Given the description of an element on the screen output the (x, y) to click on. 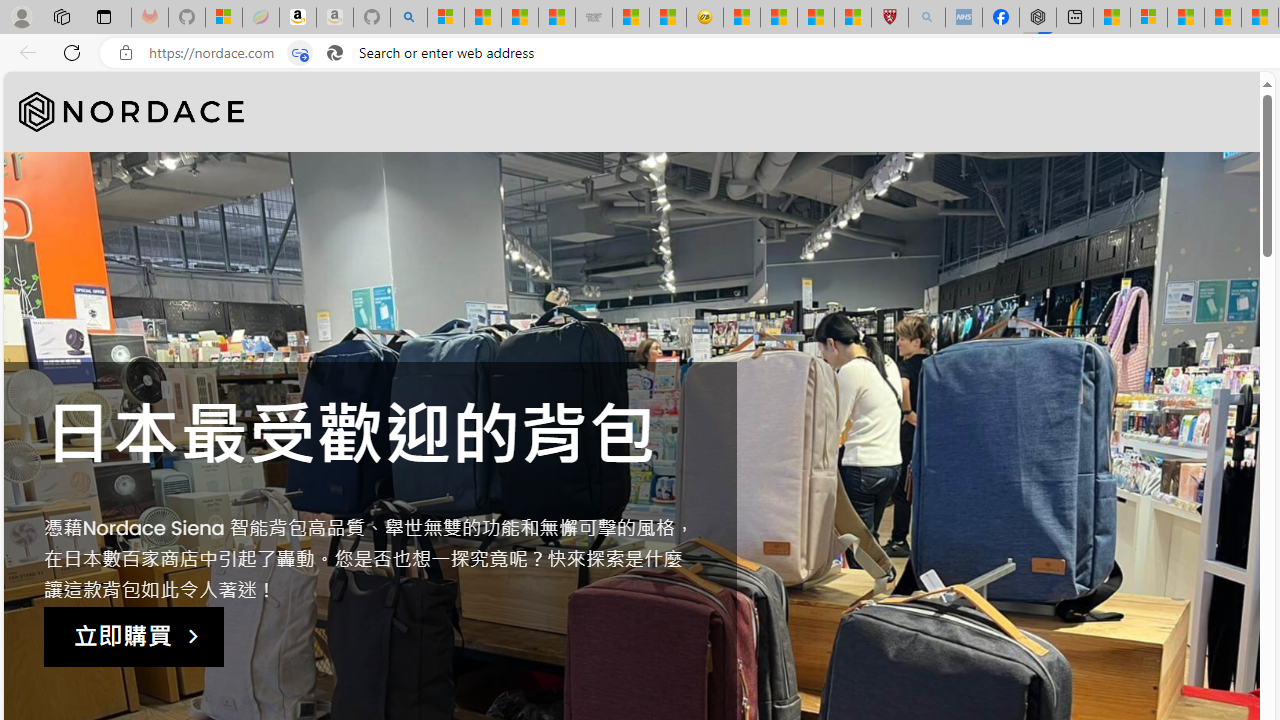
Science - MSN (815, 17)
Tabs in split screen (299, 53)
Refresh (72, 52)
View site information (125, 53)
Recipes - MSN (742, 17)
Microsoft Start (1185, 17)
Stocks - MSN (556, 17)
NCL Adult Asthma Inhaler Choice Guideline - Sleeping (963, 17)
Personal Profile (21, 16)
